Given the description of an element on the screen output the (x, y) to click on. 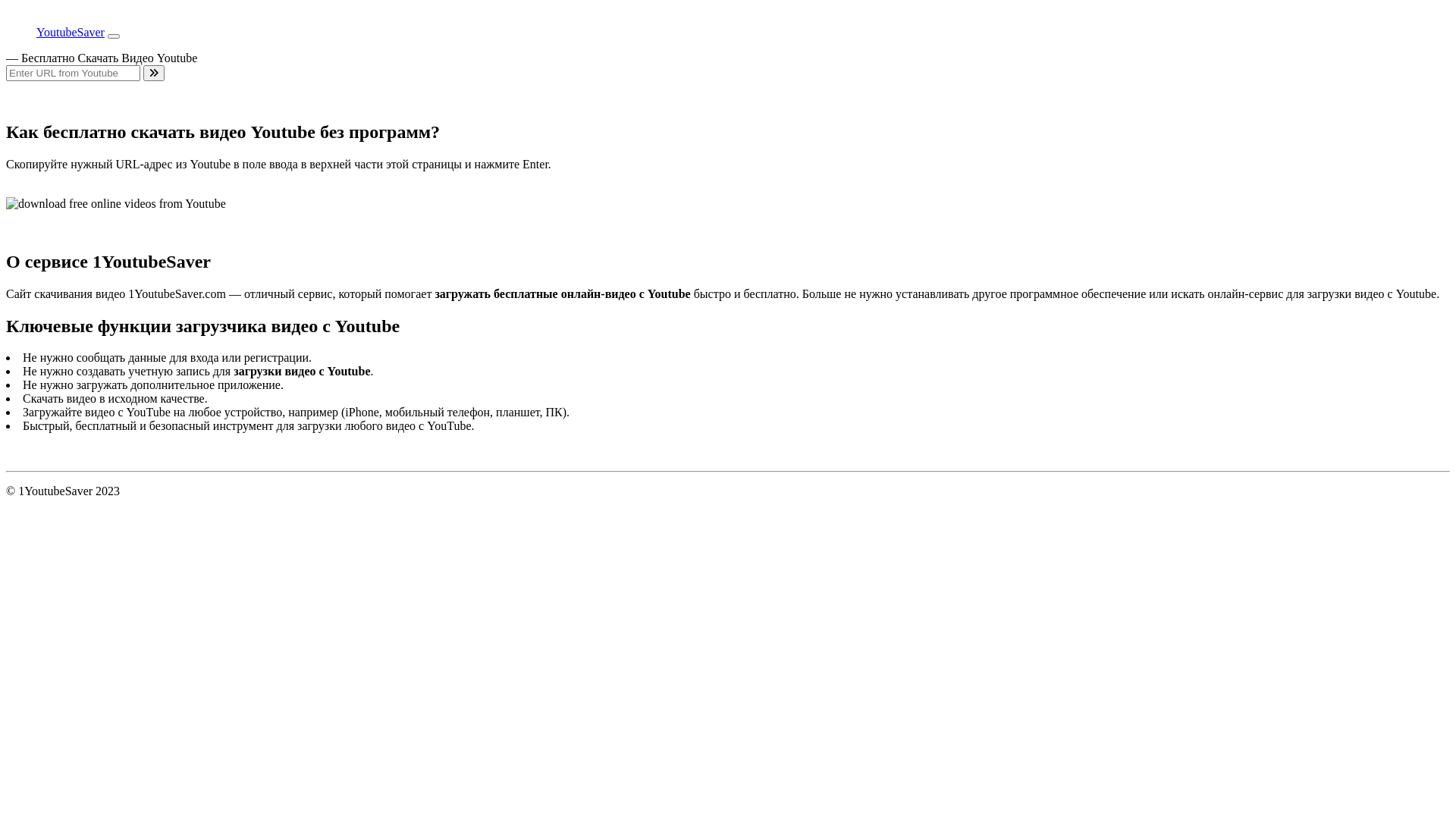
YoutubeSaver Element type: text (55, 31)
